Given the description of an element on the screen output the (x, y) to click on. 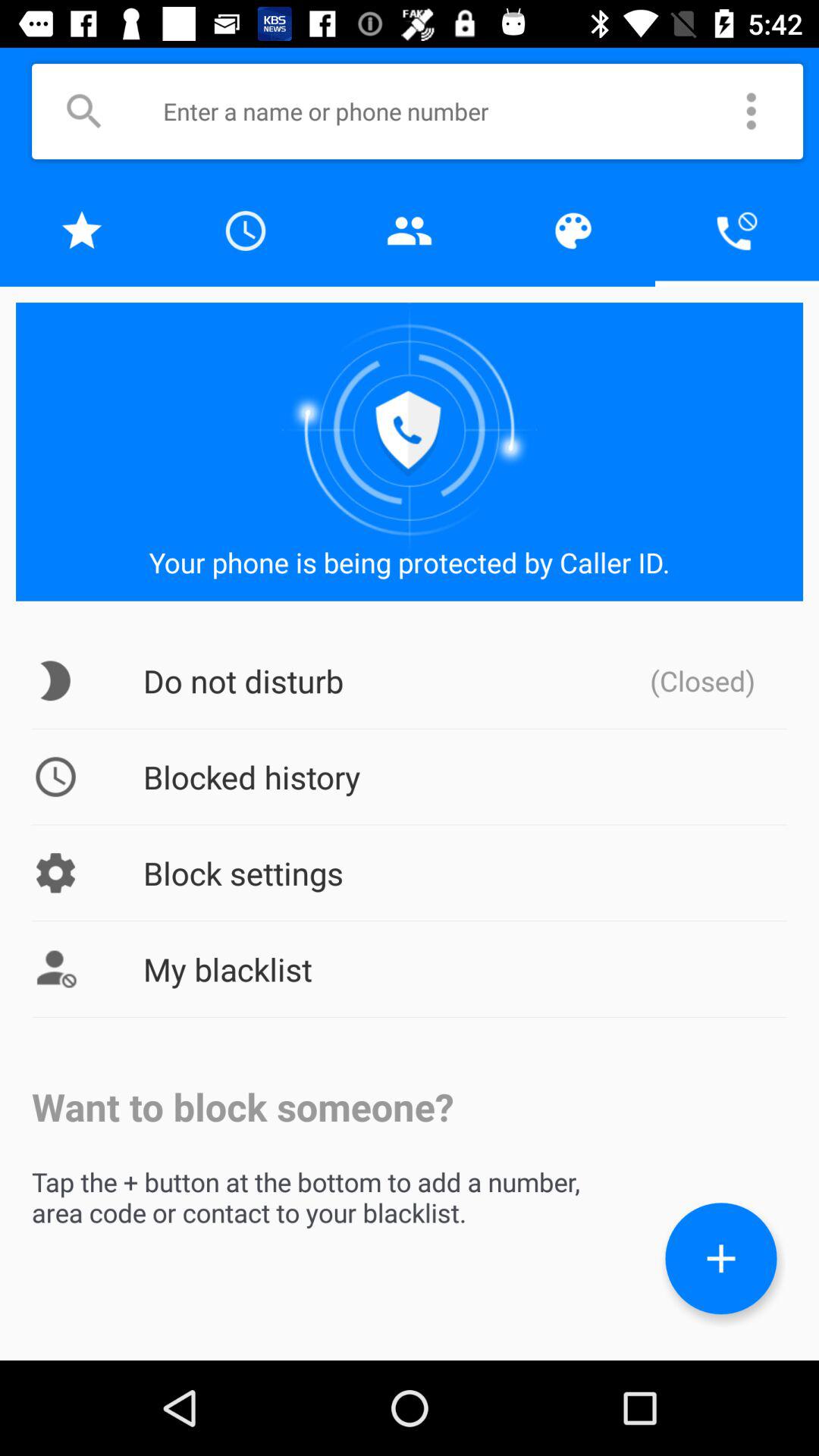
press the app below the want to block item (721, 1258)
